Given the description of an element on the screen output the (x, y) to click on. 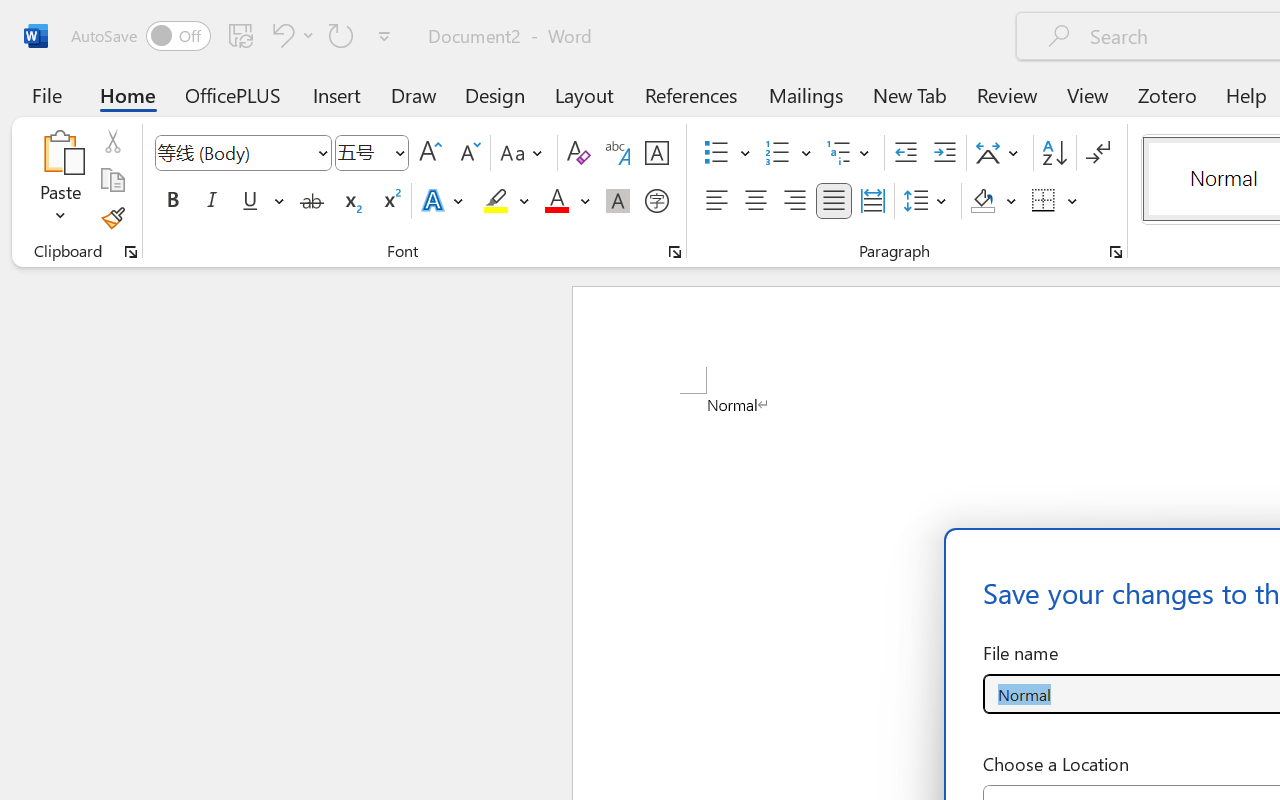
Undo Apply Quick Style (280, 35)
Draw (413, 94)
Bullets (716, 153)
Format Painter (112, 218)
Paste (60, 151)
Font (242, 153)
Shading (993, 201)
Font Color Red (556, 201)
Home (127, 94)
Numbering (778, 153)
Review (1007, 94)
Underline (261, 201)
View (1087, 94)
Phonetic Guide... (618, 153)
